Given the description of an element on the screen output the (x, y) to click on. 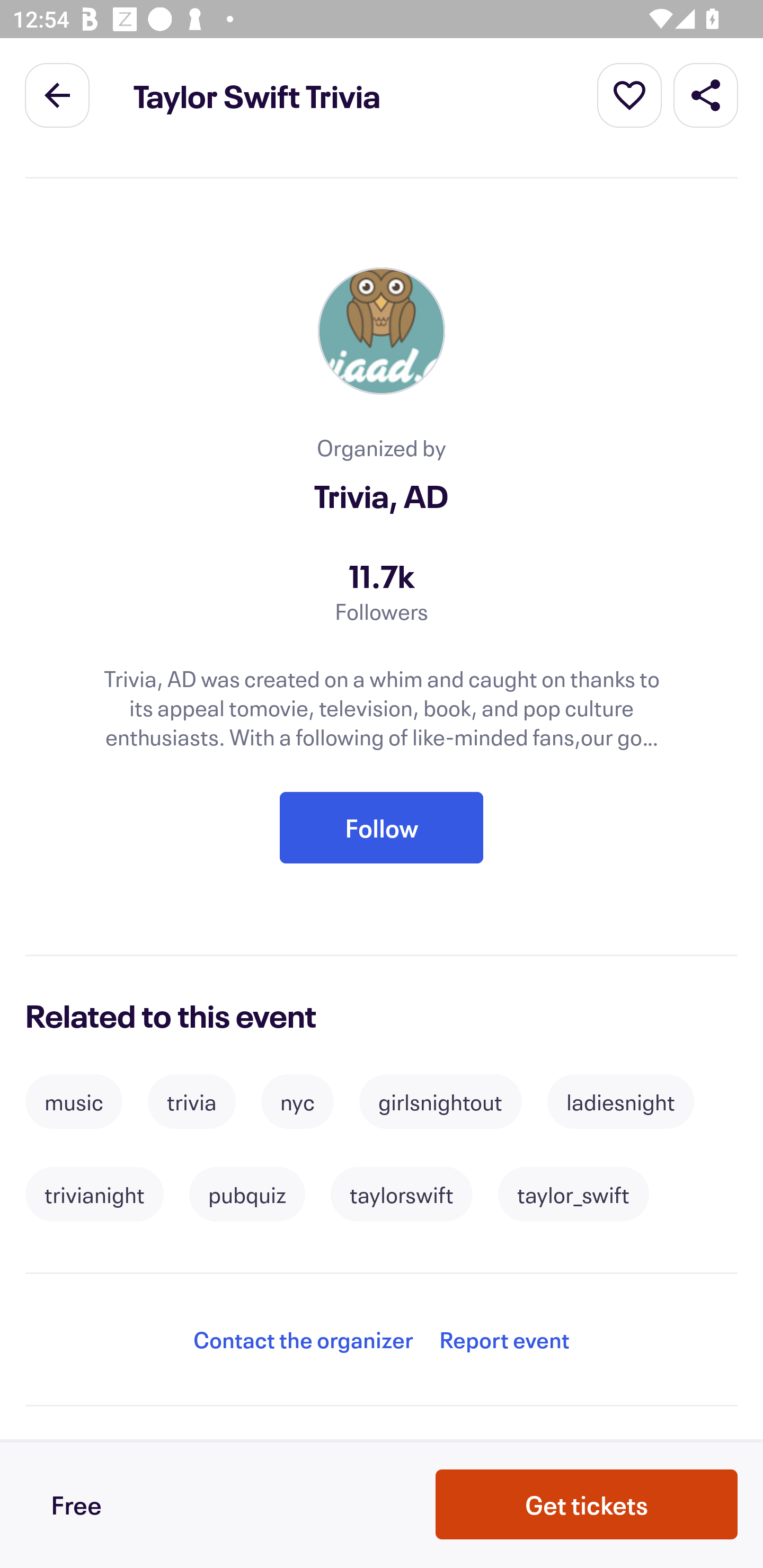
Back (57, 94)
More (629, 94)
Share (705, 94)
Organizer profile picture (381, 331)
Trivia, AD (381, 495)
Follow (381, 827)
music (73, 1101)
trivia (191, 1101)
nyc (297, 1101)
girlsnightout (440, 1101)
ladiesnight (620, 1101)
trivianight (94, 1194)
pubquiz (247, 1194)
taylorswift (401, 1194)
taylor_swift (573, 1194)
Contact the organizer (303, 1339)
Report event (504, 1339)
Get tickets (586, 1504)
